Given the description of an element on the screen output the (x, y) to click on. 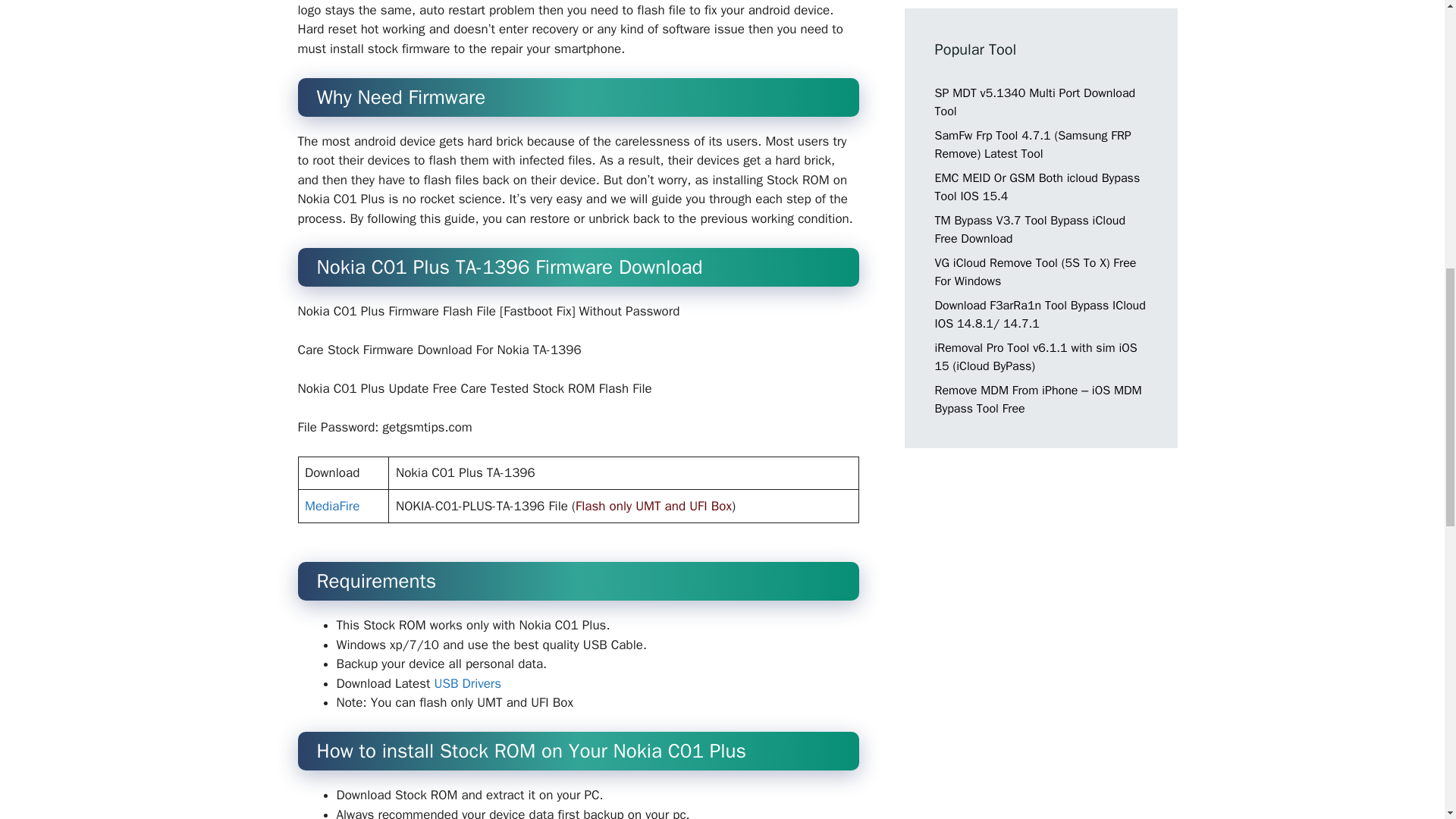
USB Drivers (467, 683)
MediaFire (331, 505)
